Given the description of an element on the screen output the (x, y) to click on. 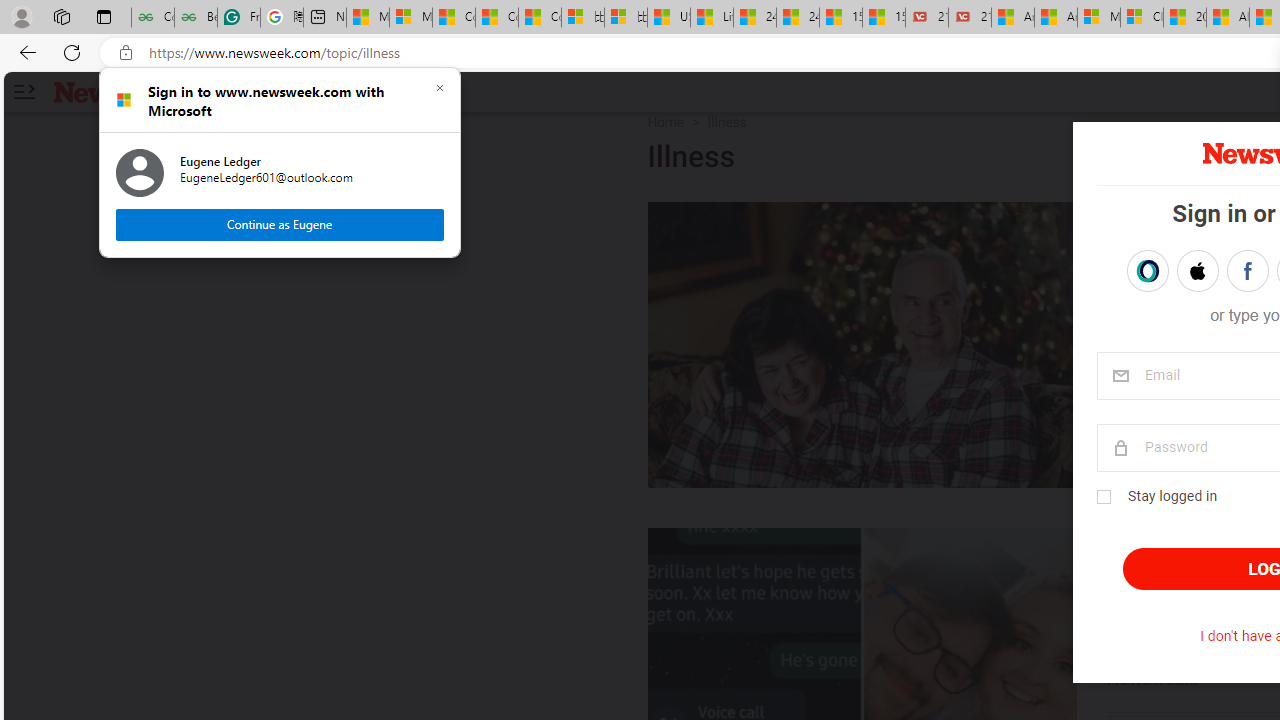
15 Ways Modern Life Contradicts the Teachings of Jesus (883, 17)
Complete Guide to Arrays Data Structure - GeeksforGeeks (152, 17)
